Given the description of an element on the screen output the (x, y) to click on. 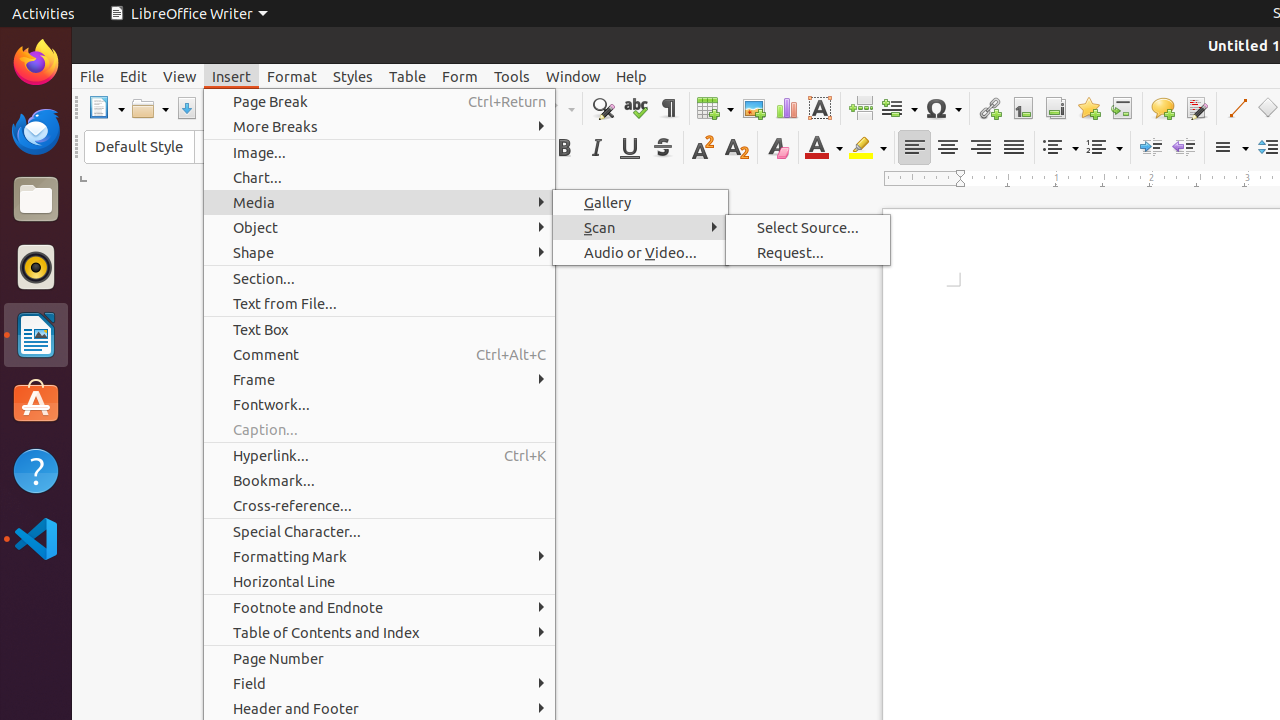
Numbering Element type: push-button (1104, 147)
Footnote Element type: push-button (1022, 108)
View Element type: menu (179, 76)
Scan Element type: menu (640, 227)
Form Element type: menu (460, 76)
